Given the description of an element on the screen output the (x, y) to click on. 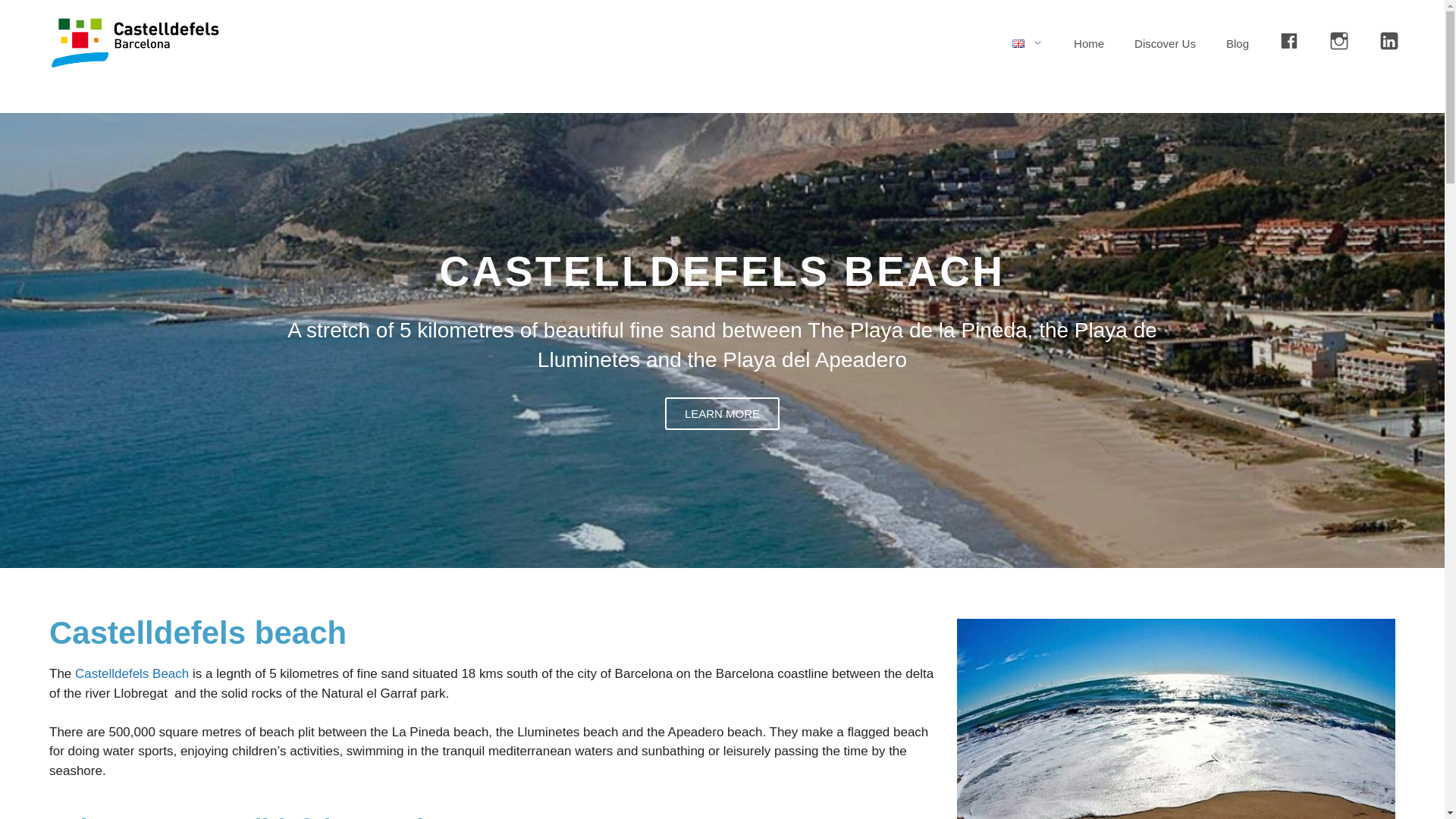
Blog (1237, 43)
Discover Us (1165, 43)
Facebook (1288, 43)
Home (1088, 43)
Linkedin (1388, 43)
Instagram (1339, 43)
Castelldefels Turismo (134, 43)
Castelldefels Beach (132, 673)
Castelldefels Turismo (134, 42)
